Given the description of an element on the screen output the (x, y) to click on. 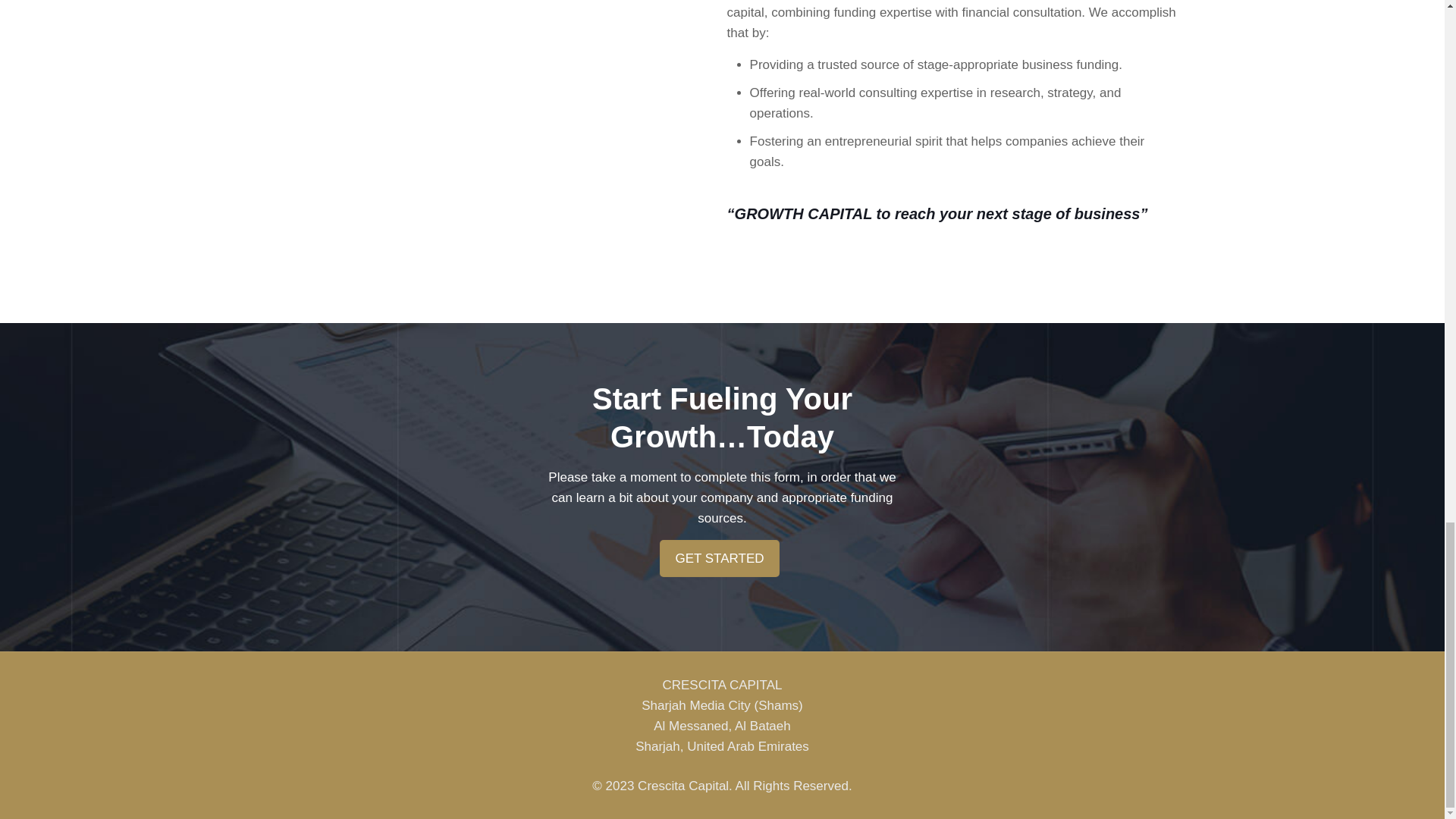
GET STARTED (718, 558)
